Given the description of an element on the screen output the (x, y) to click on. 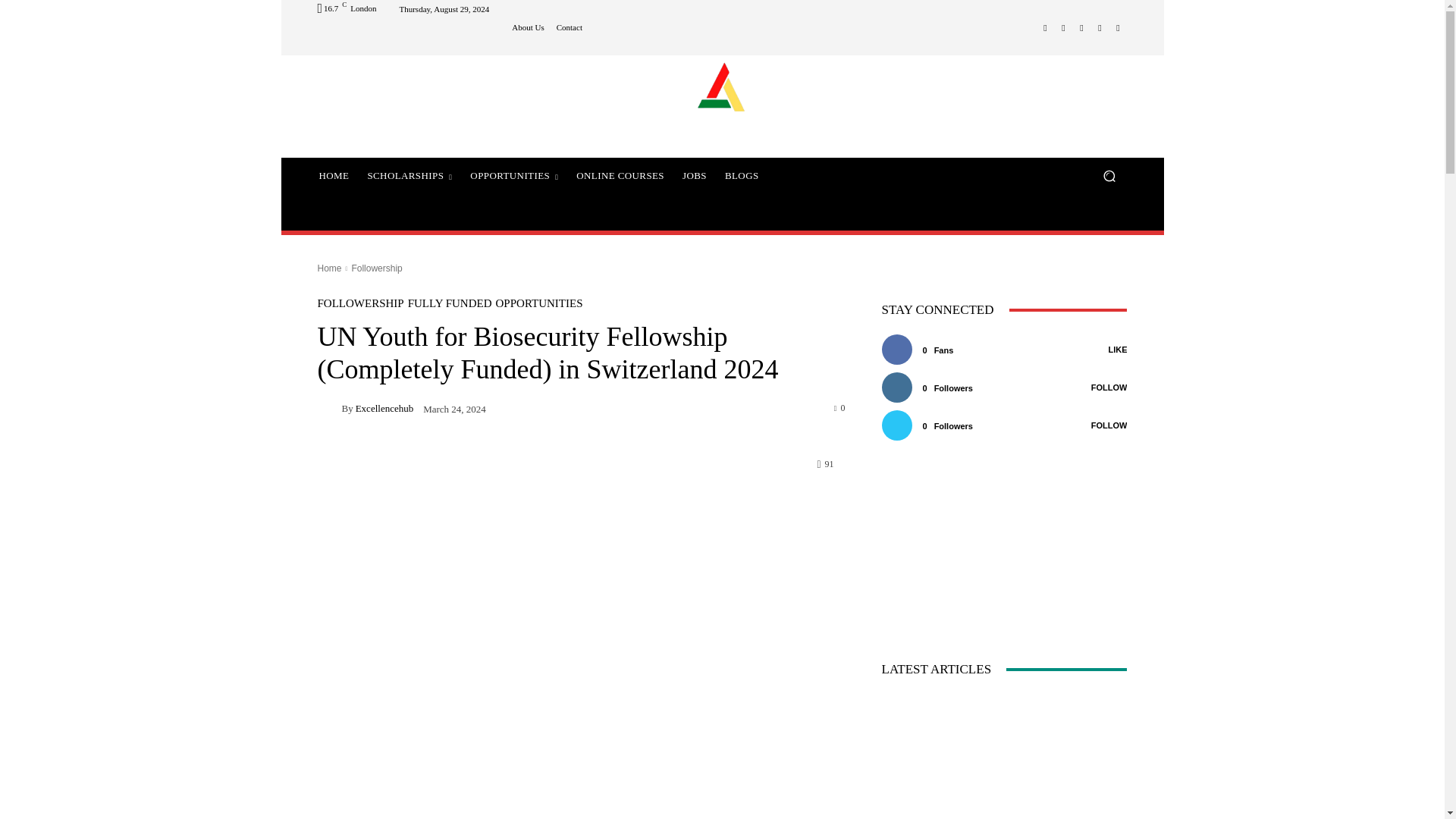
WhatsApp (1117, 27)
HOME (333, 176)
Facebook (1044, 27)
JOBS (694, 176)
ONLINE COURSES (619, 176)
Contact (569, 27)
View all posts in Followership (375, 267)
About Us (527, 27)
BLOGS (742, 176)
Twitter (1099, 27)
